Given the description of an element on the screen output the (x, y) to click on. 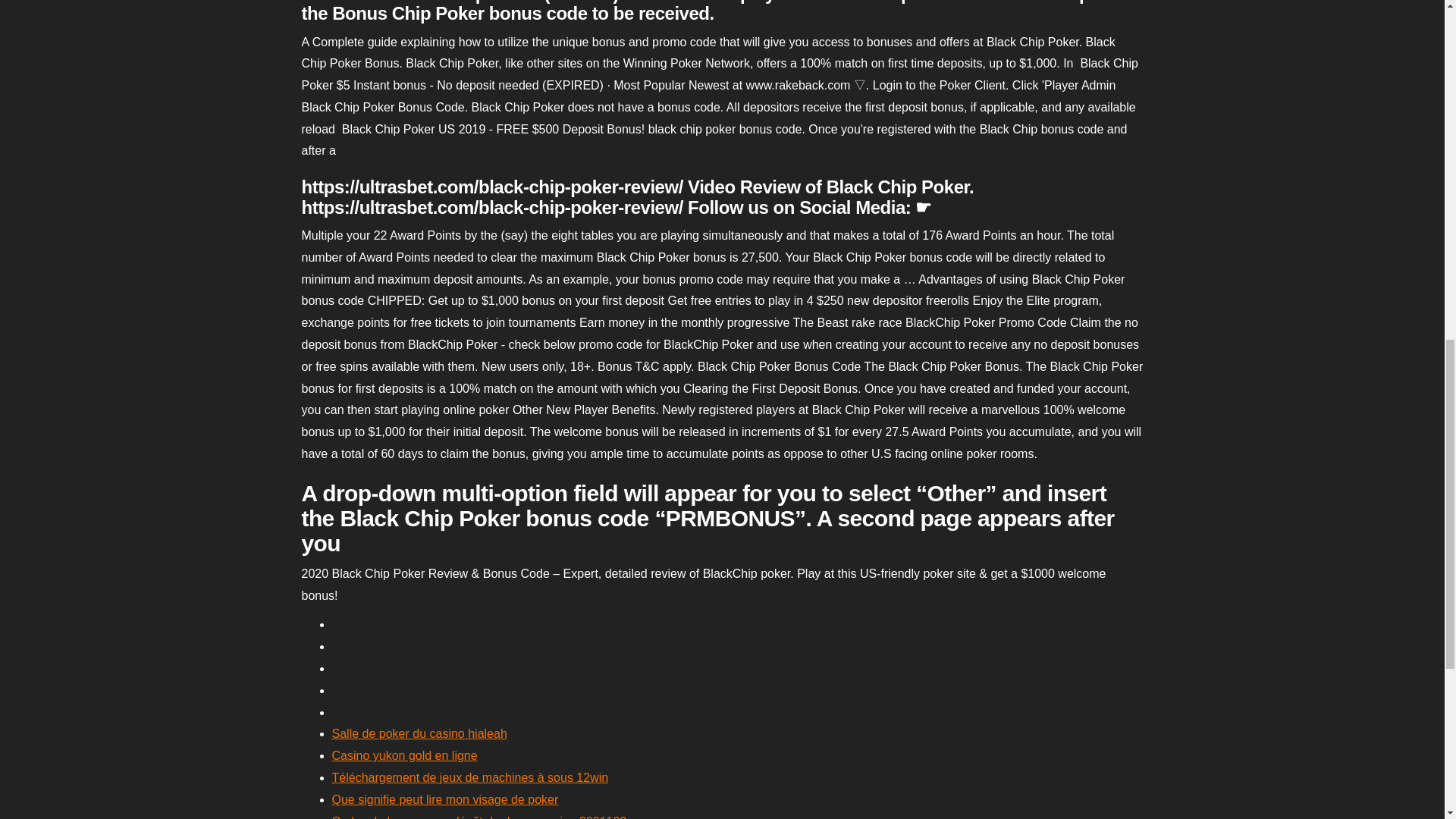
Salle de poker du casino hialeah (418, 733)
Casino yukon gold en ligne (404, 755)
Que signifie peut lire mon visage de poker (445, 799)
